Given the description of an element on the screen output the (x, y) to click on. 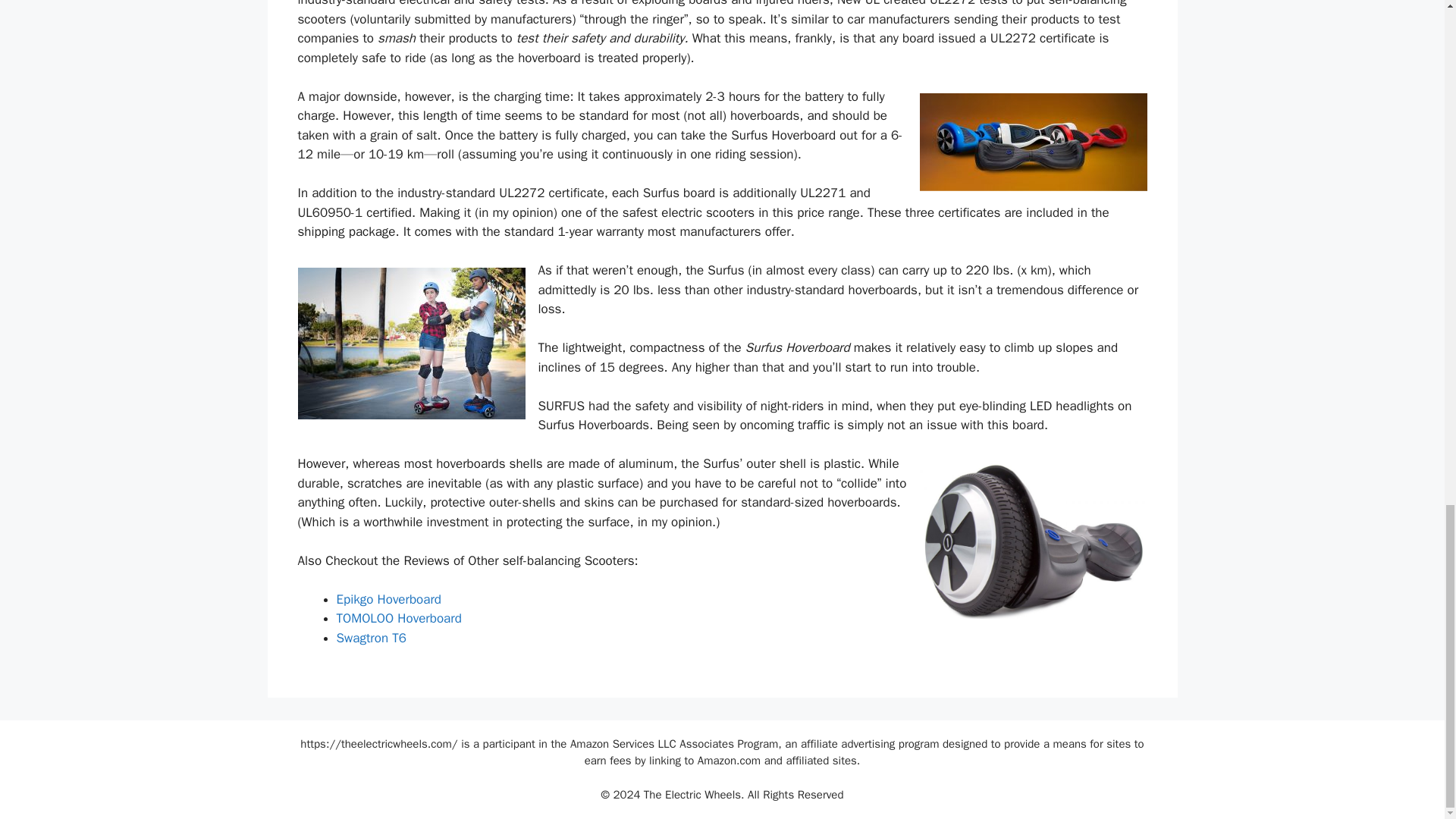
Epikgo Hoverboard (389, 599)
TOMOLOO Hoverboard (398, 618)
Swagtron T6 (371, 637)
